Given the description of an element on the screen output the (x, y) to click on. 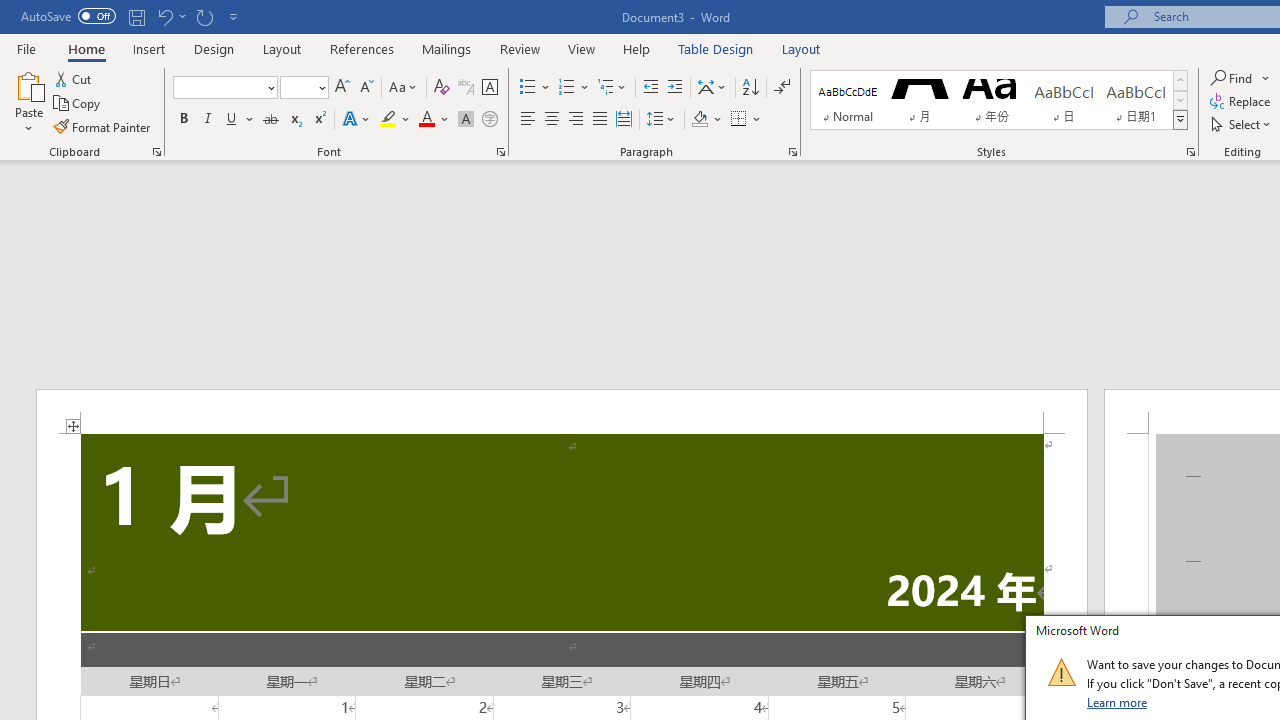
Underline (232, 119)
Row Down (1179, 100)
Font (218, 87)
Quick Access Toolbar (131, 16)
Office Clipboard... (156, 151)
Font... (500, 151)
Save (136, 15)
Character Border (489, 87)
Design (214, 48)
Sort... (750, 87)
Find (1240, 78)
Clear Formatting (442, 87)
Asian Layout (712, 87)
